Given the description of an element on the screen output the (x, y) to click on. 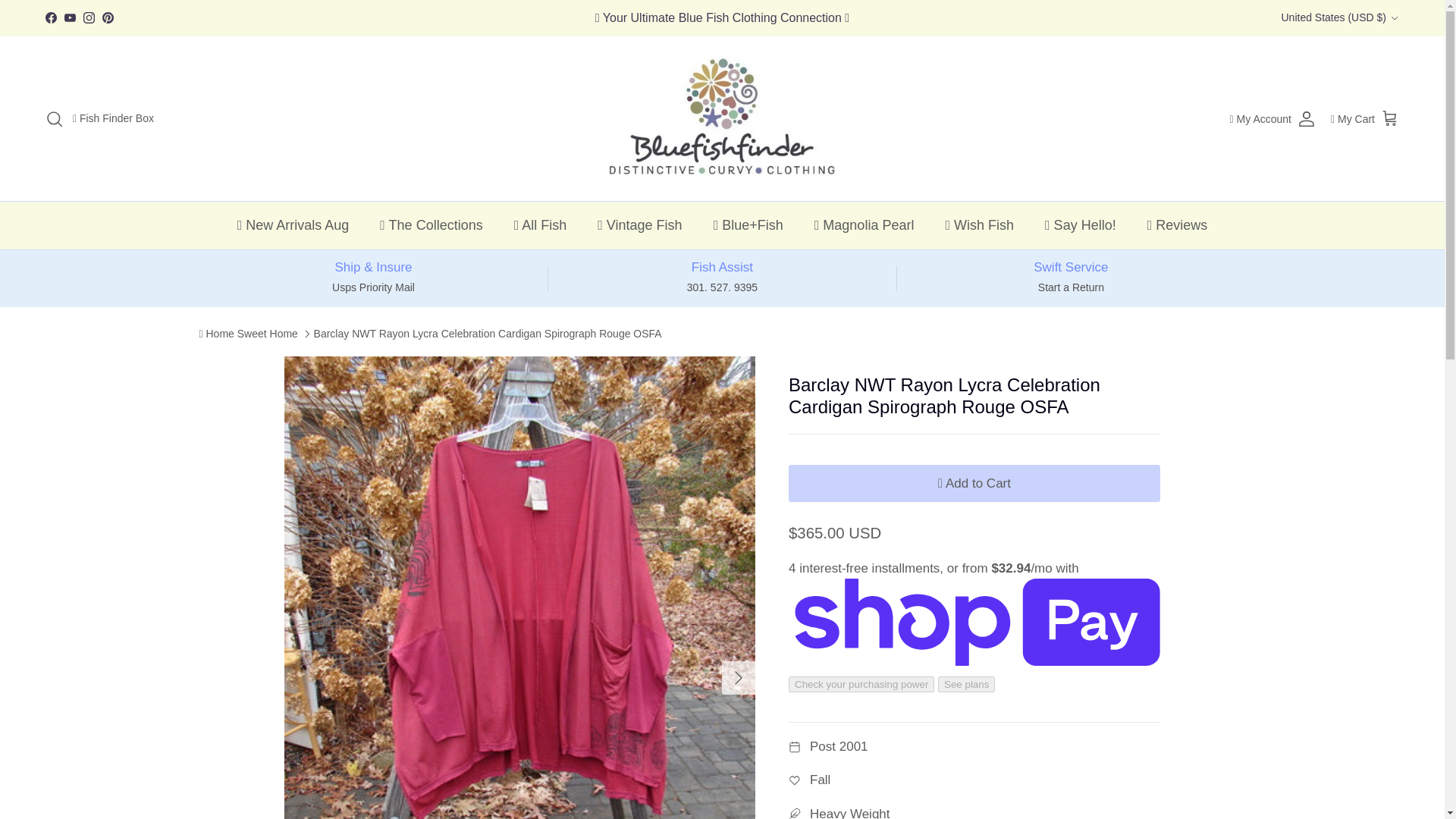
Pinterest (107, 17)
Instagram (88, 17)
Bluefishfinder.com on Facebook (50, 17)
Bluefishfinder.com (722, 118)
Facebook (50, 17)
Bluefishfinder.com on YouTube (69, 17)
YouTube (69, 17)
Bluefishfinder.com on Pinterest (107, 17)
Bluefishfinder.com on Instagram (88, 17)
